Given the description of an element on the screen output the (x, y) to click on. 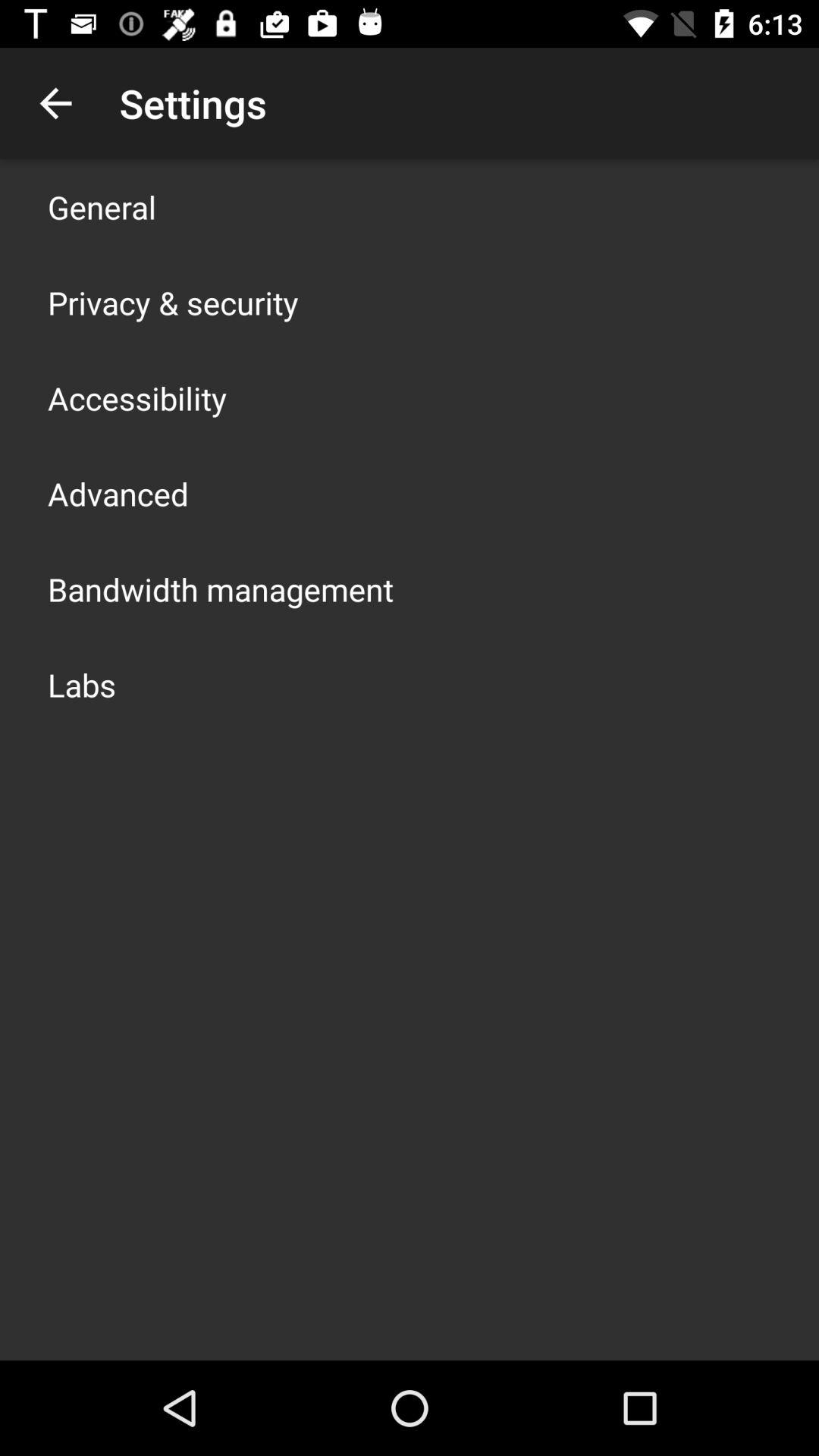
tap the accessibility icon (136, 397)
